Given the description of an element on the screen output the (x, y) to click on. 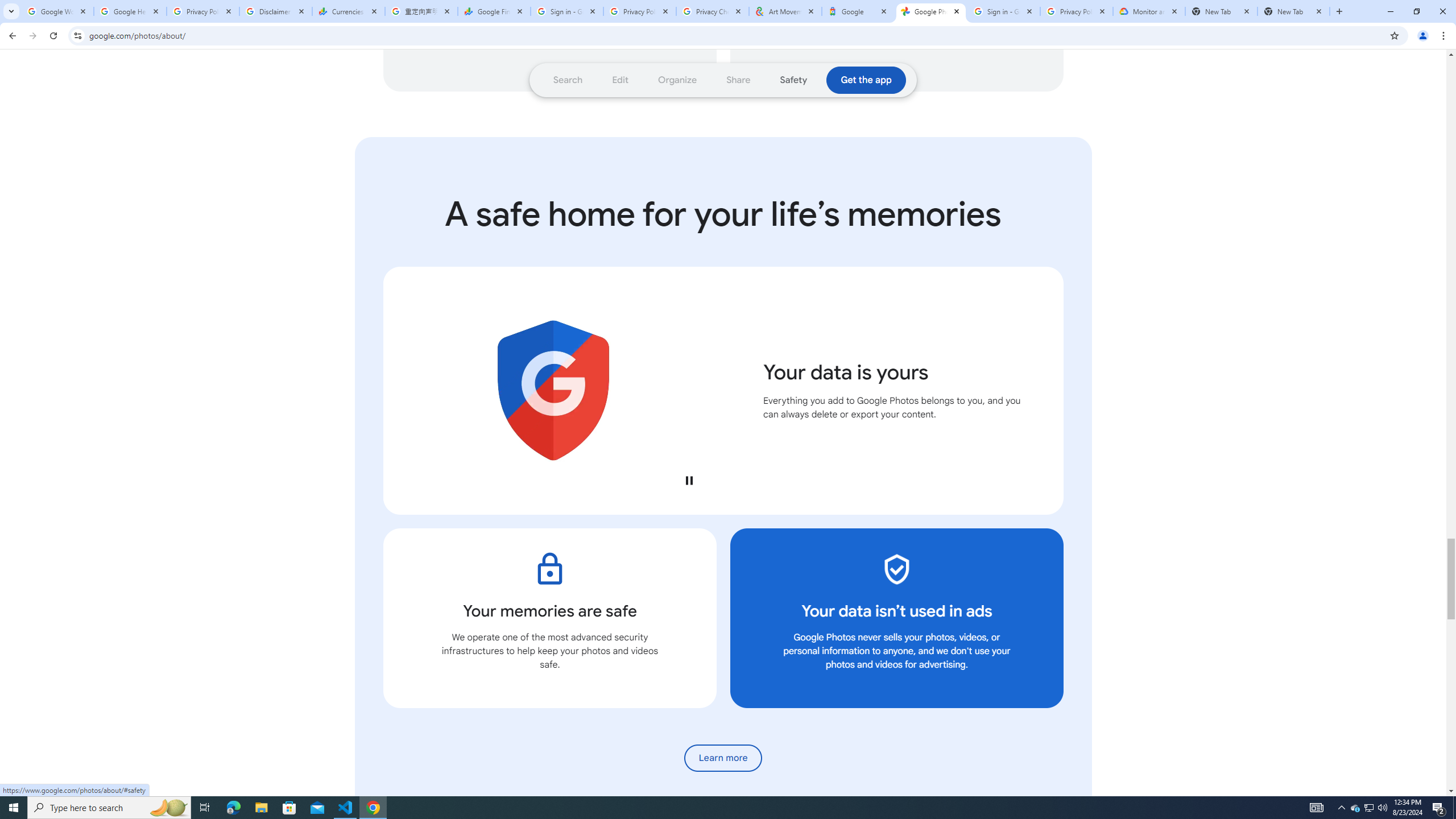
Google Workspace Admin Community (57, 11)
Play video (688, 479)
Privacy Checkup (712, 11)
Learn more about Google Photos security  (723, 757)
New Tab (1293, 11)
A checkmark icon. (896, 568)
Go to section: Edit (620, 80)
